Given the description of an element on the screen output the (x, y) to click on. 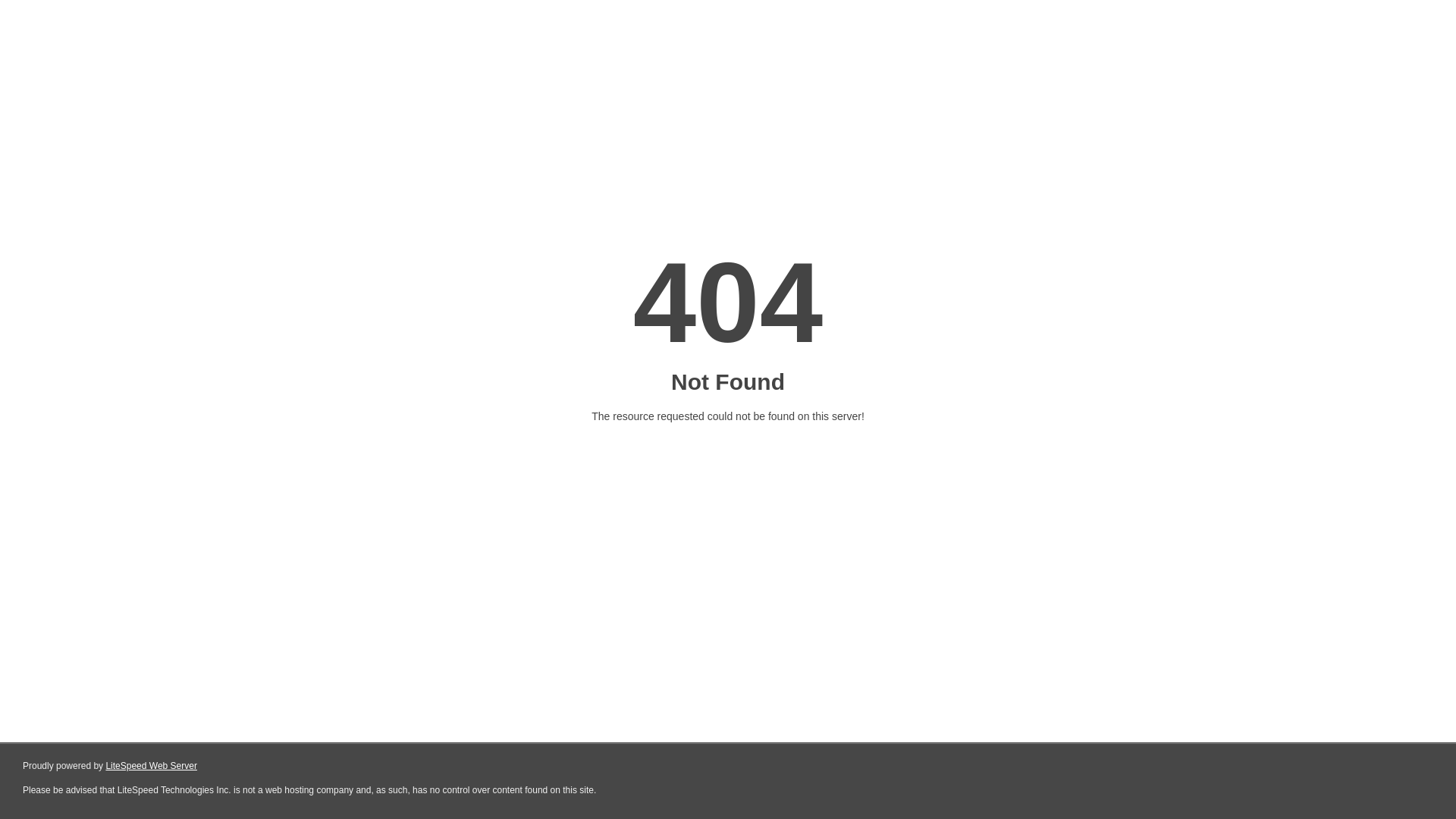
LiteSpeed Web Server Element type: text (151, 765)
